Given the description of an element on the screen output the (x, y) to click on. 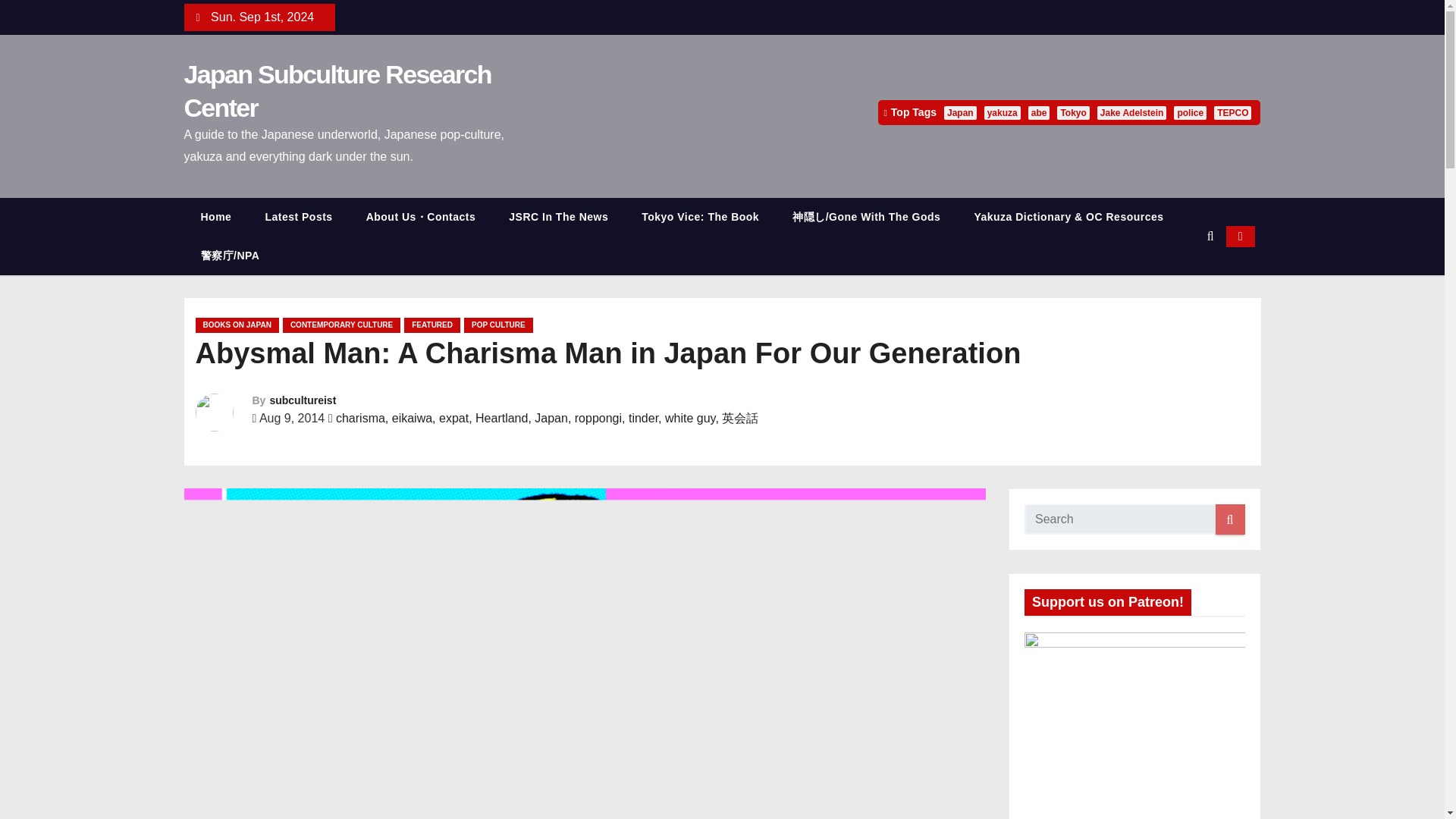
TEPCO (1232, 112)
Tokyo (1073, 112)
CONTEMPORARY CULTURE (341, 324)
BOOKS ON JAPAN (237, 324)
police (1190, 112)
Home (215, 217)
FEATURED (432, 324)
Japan (959, 112)
Japan Subculture Research Center (336, 90)
JSRC In The News (558, 217)
